Given the description of an element on the screen output the (x, y) to click on. 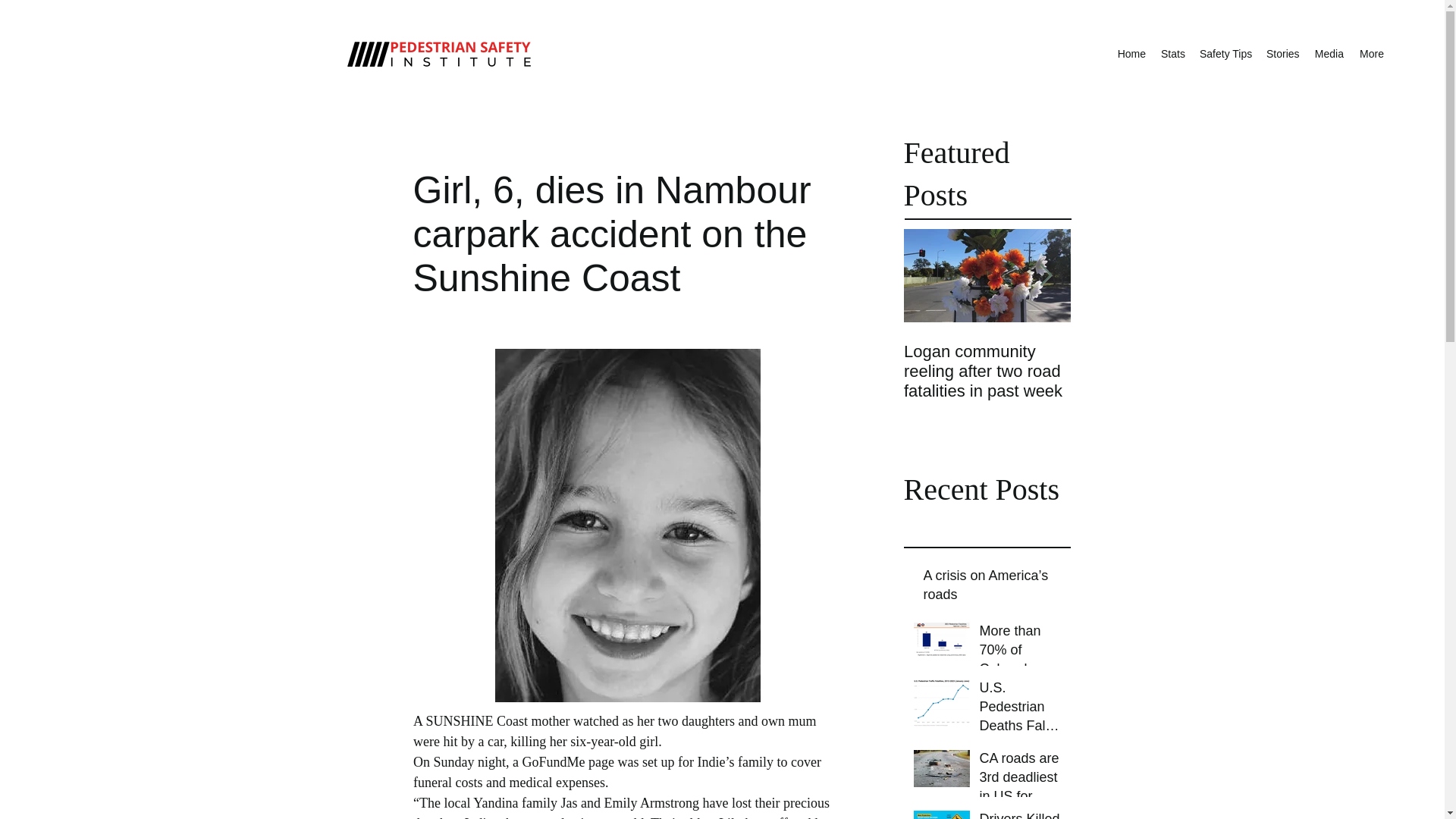
Stories (1282, 53)
Home (1131, 53)
Stats (1172, 53)
Pedestrian killed while crossing road in Okaloosa County (1153, 371)
Safety Tips (1225, 53)
Drivers Killed One Pedestrian Every 75 Minutes in H1 2022 (1020, 814)
Media (1328, 53)
